Given the description of an element on the screen output the (x, y) to click on. 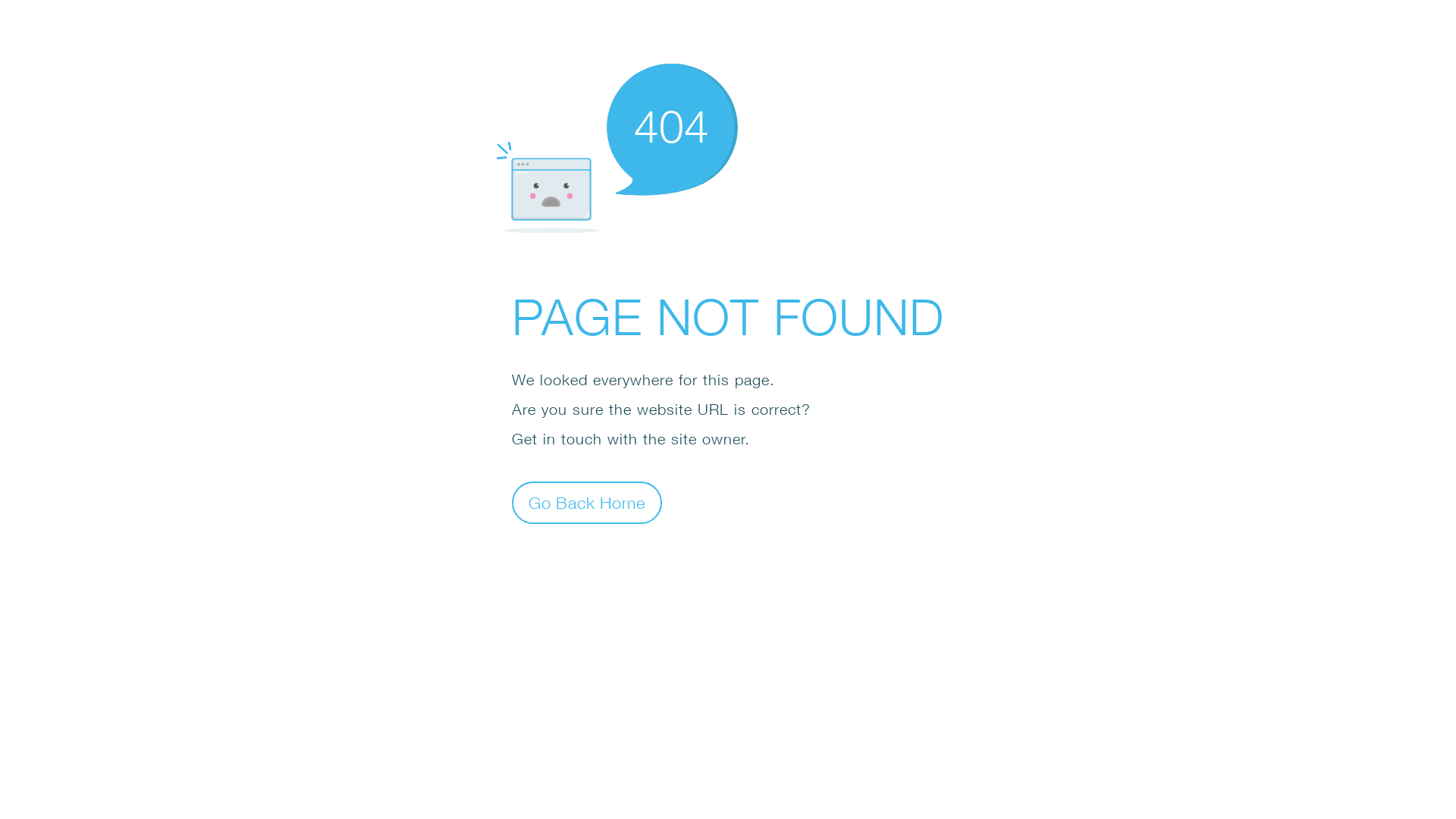
Go Back Home Element type: text (586, 502)
